Given the description of an element on the screen output the (x, y) to click on. 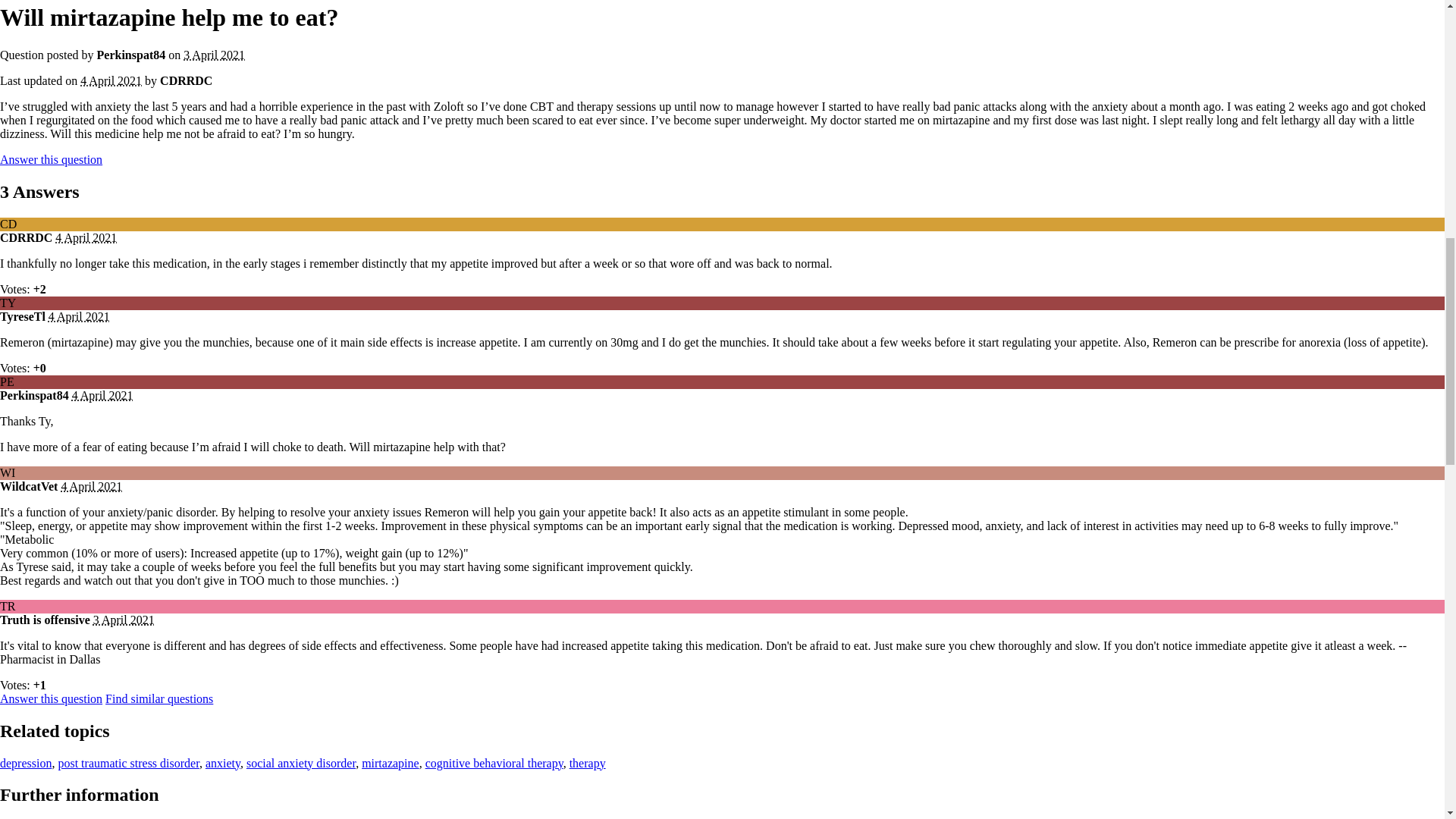
3 April 2021 7:21pm (79, 316)
4 April 2021 6:22am (85, 237)
2 April 2021 9:25pm (213, 54)
3 April 2021 9:02pm (102, 395)
4 April 2021 6:22am (110, 80)
3 April 2021 12:38am (123, 619)
4 April 2021 4:44am (91, 486)
